Given the description of an element on the screen output the (x, y) to click on. 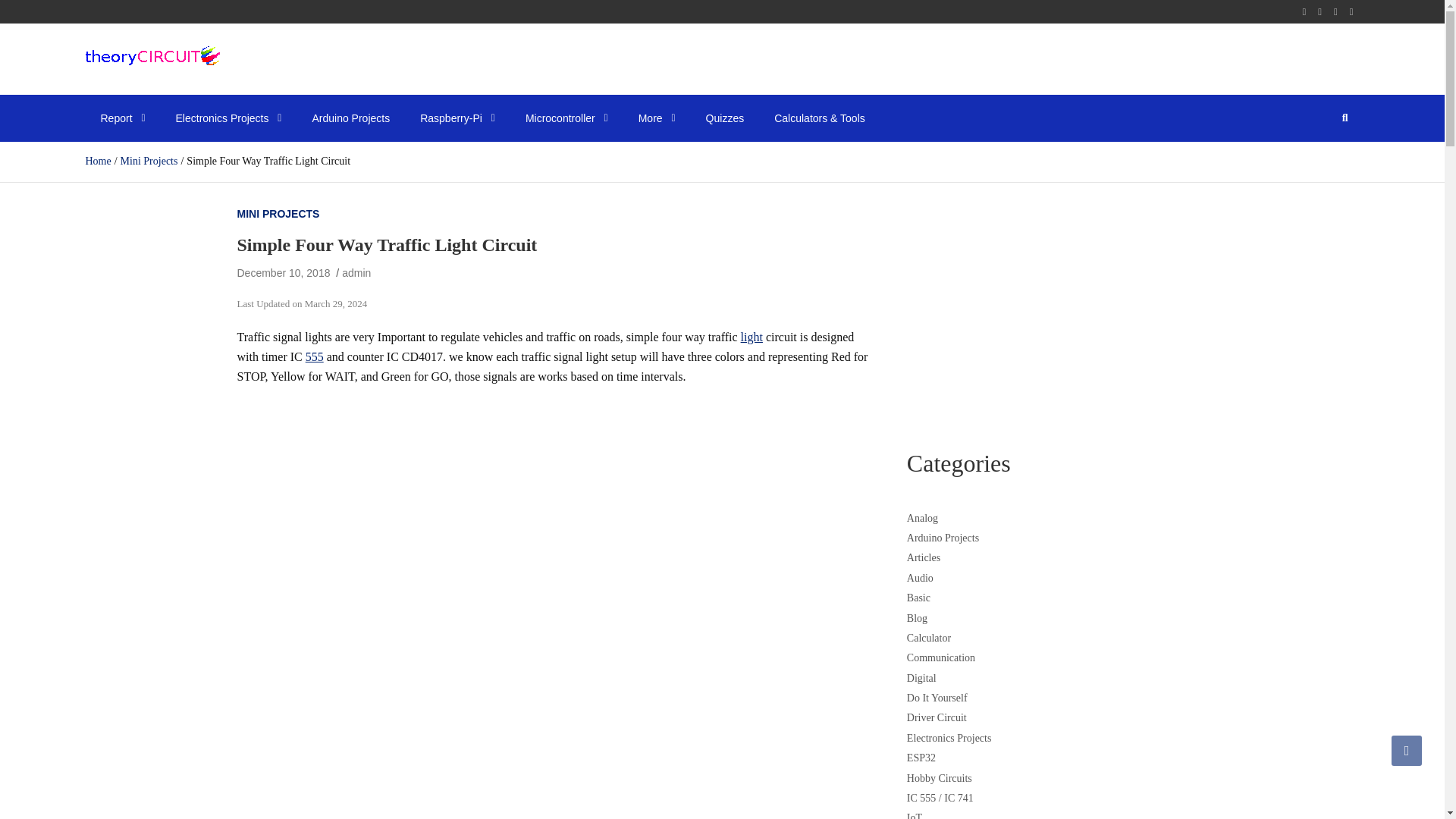
Advertisement (555, 743)
Arduino Projects (350, 118)
Microcontroller (567, 118)
Electronics Projects (228, 118)
Quizzes (725, 118)
More (656, 118)
Report (122, 118)
Advertisement (1057, 311)
Simple Four Way Traffic Light Circuit (282, 272)
Raspberry-Pi (457, 118)
